Given the description of an element on the screen output the (x, y) to click on. 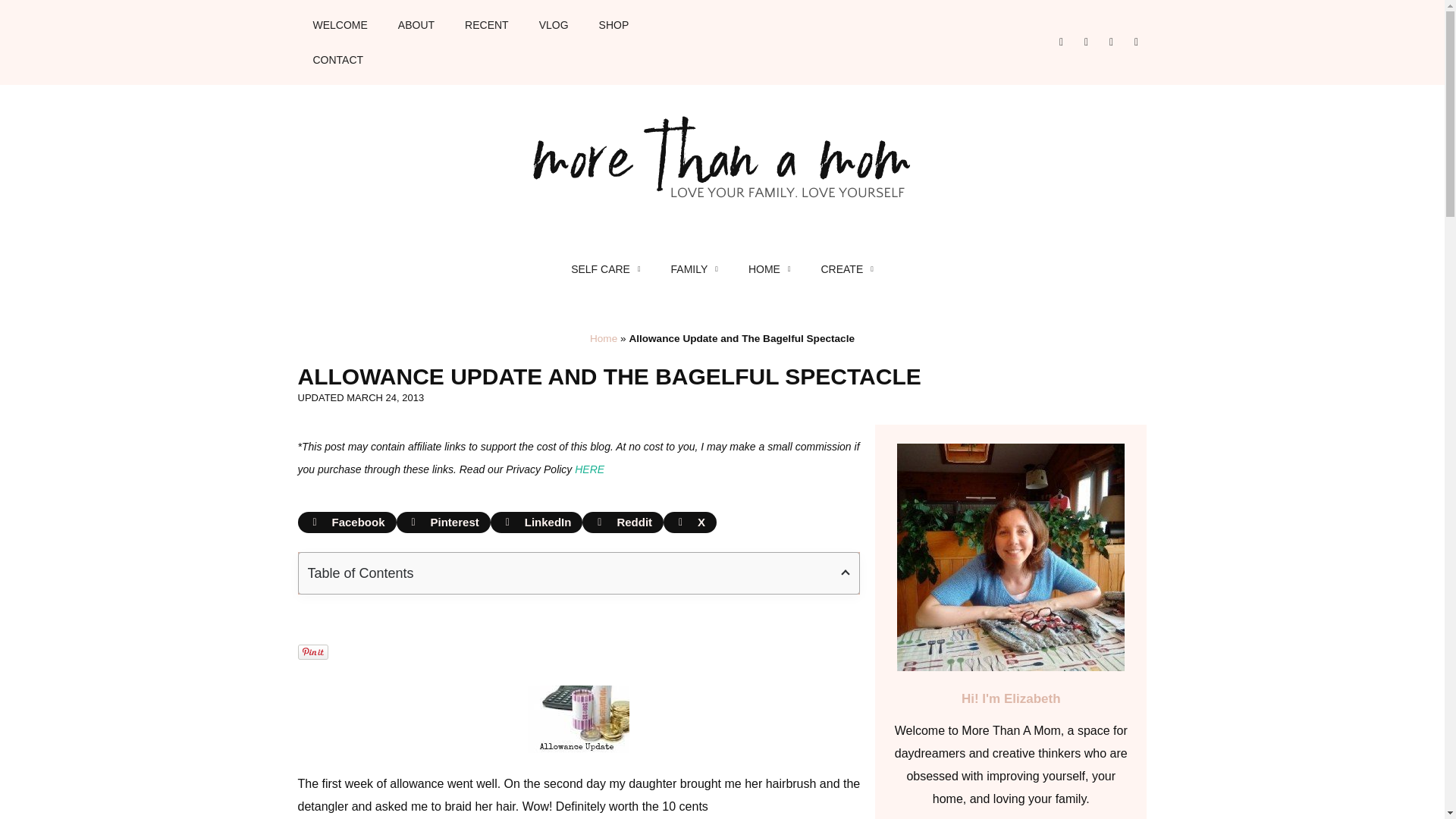
WELCOME (339, 24)
RECENT (486, 24)
ABOUT (415, 24)
HOME (769, 268)
FAMILY (694, 268)
CONTACT (337, 59)
CREATE (846, 268)
SHOP (614, 24)
SELF CARE (605, 268)
VLOG (553, 24)
